Given the description of an element on the screen output the (x, y) to click on. 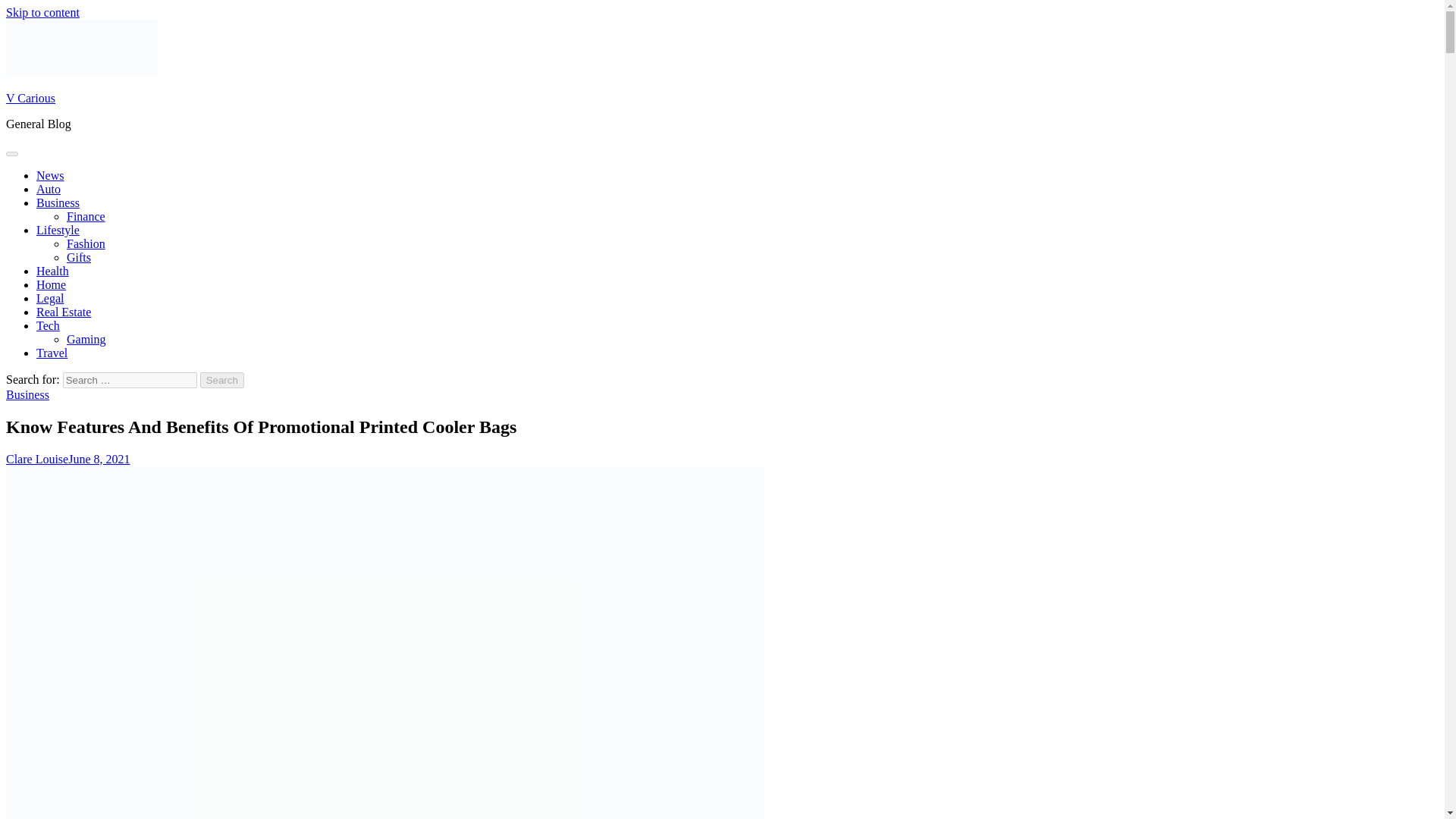
Auto (48, 188)
Gaming (86, 338)
Business (27, 394)
Skip to content (42, 11)
Search (222, 380)
Fashion (85, 243)
Search (222, 380)
Clare Louise (36, 459)
Lifestyle (58, 229)
Finance (85, 215)
